Given the description of an element on the screen output the (x, y) to click on. 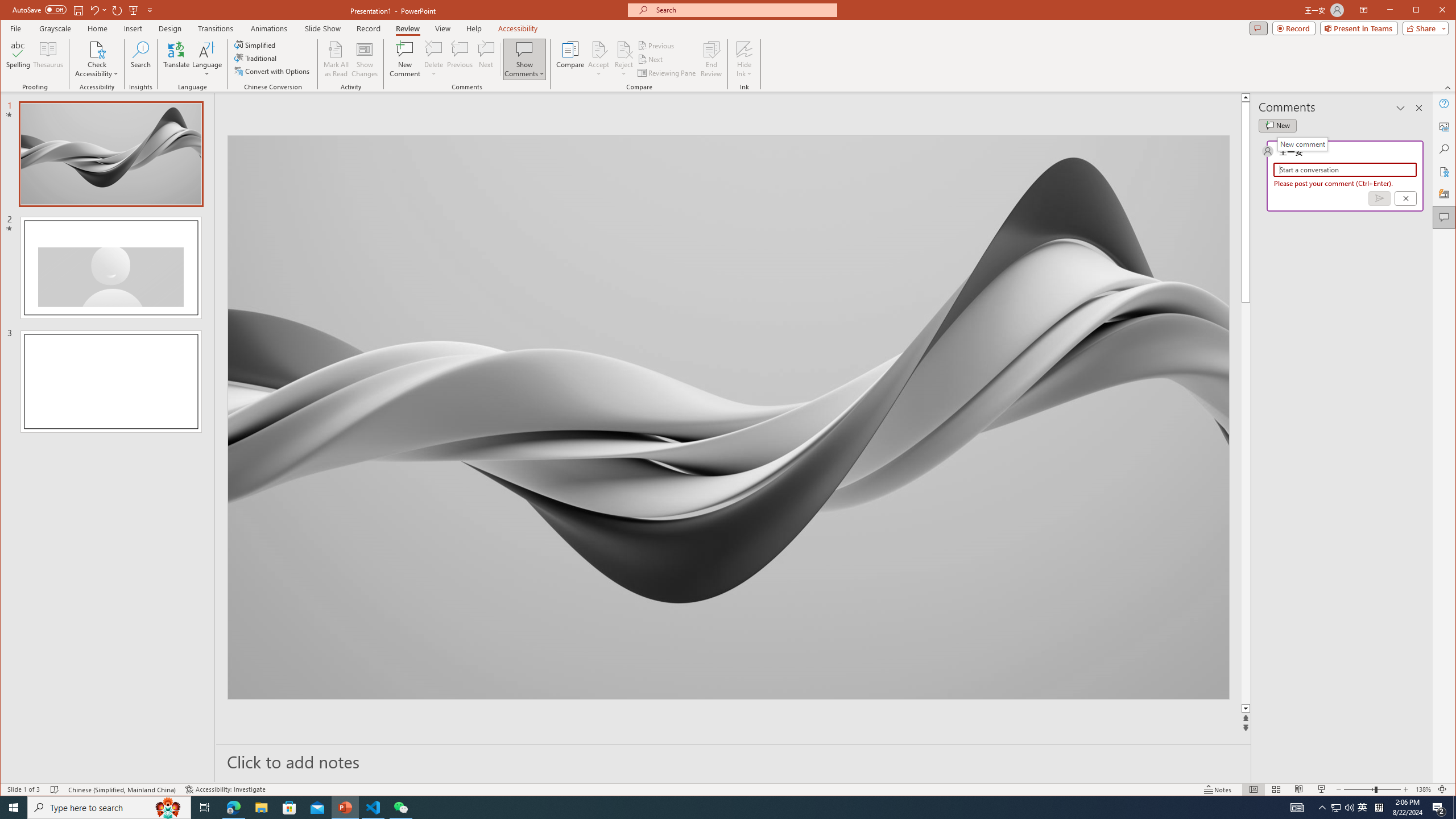
Record (1294, 28)
Convert with Options... (272, 70)
Grayscale (55, 28)
Next (651, 59)
Task Pane Options (1400, 107)
Home (97, 28)
Tray Input Indicator - Chinese (Simplified, China) (1378, 807)
Microsoft Store (289, 807)
Comments (1444, 216)
AutoSave (38, 9)
Task View (204, 807)
Zoom (1371, 789)
Visual Studio Code - 1 running window (373, 807)
Cancel (1405, 197)
Accept (598, 59)
